Given the description of an element on the screen output the (x, y) to click on. 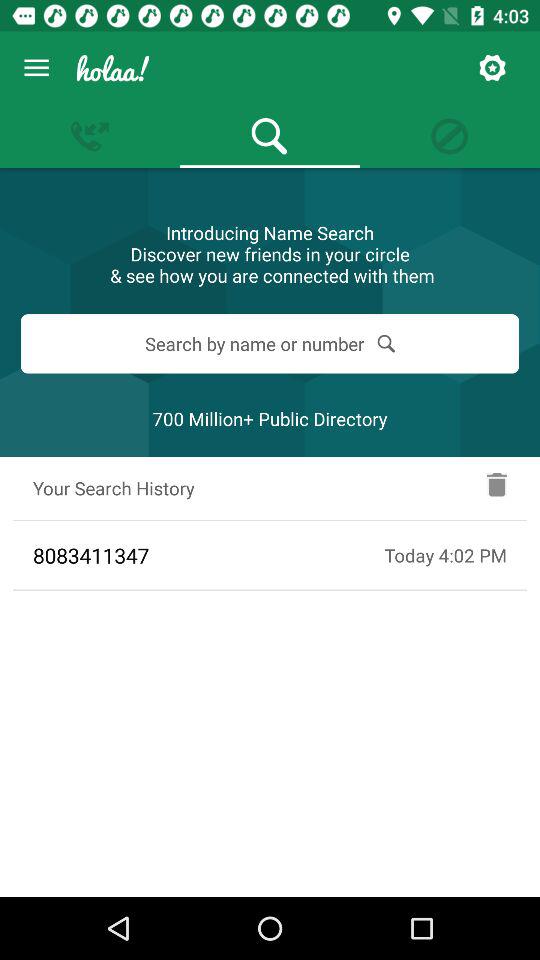
click the setting option (492, 68)
